Given the description of an element on the screen output the (x, y) to click on. 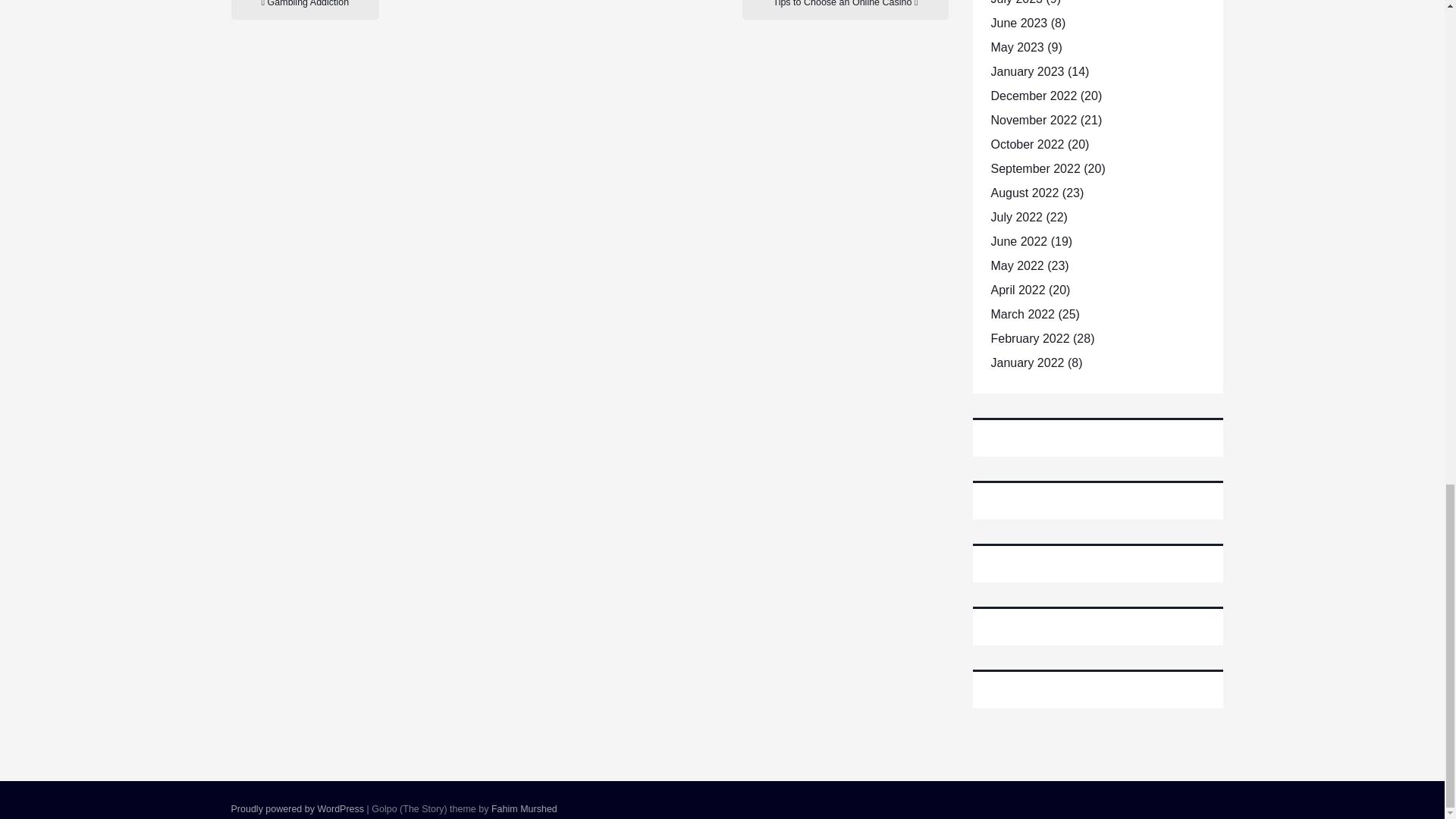
January 2023 (1027, 71)
Tips to Choose an Online Casino (844, 9)
September 2022 (1035, 168)
July 2022 (1016, 216)
June 2023 (1018, 22)
May 2023 (1016, 47)
Gambling Addiction (304, 9)
November 2022 (1033, 119)
July 2023 (1016, 2)
December 2022 (1033, 95)
